Given the description of an element on the screen output the (x, y) to click on. 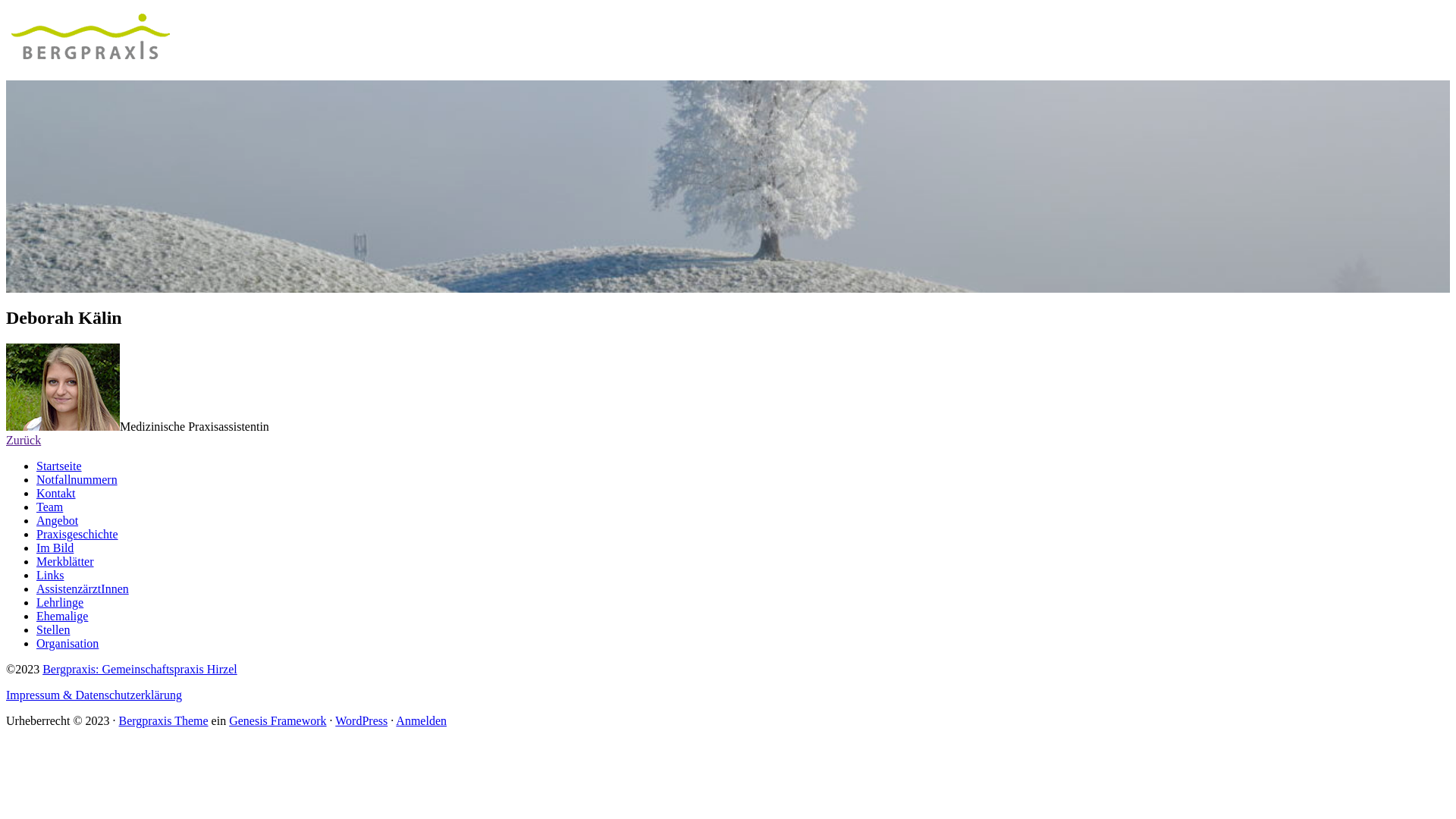
Bergpraxis: Gemeinschaftspraxis Hirzel Element type: text (139, 668)
Ehemalige Element type: text (61, 615)
WordPress Element type: text (361, 720)
Lehrlinge Element type: text (59, 602)
Angebot Element type: text (57, 520)
Startseite Element type: text (58, 465)
Bergpraxis Theme Element type: text (163, 720)
Team Element type: text (49, 506)
Anmelden Element type: text (420, 720)
Organisation Element type: text (67, 643)
Kontakt Element type: text (55, 492)
Notfallnummern Element type: text (76, 479)
Links Element type: text (49, 574)
Im Bild Element type: text (54, 547)
Praxisgeschichte Element type: text (77, 533)
Genesis Framework Element type: text (277, 720)
Stellen Element type: text (52, 629)
